Given the description of an element on the screen output the (x, y) to click on. 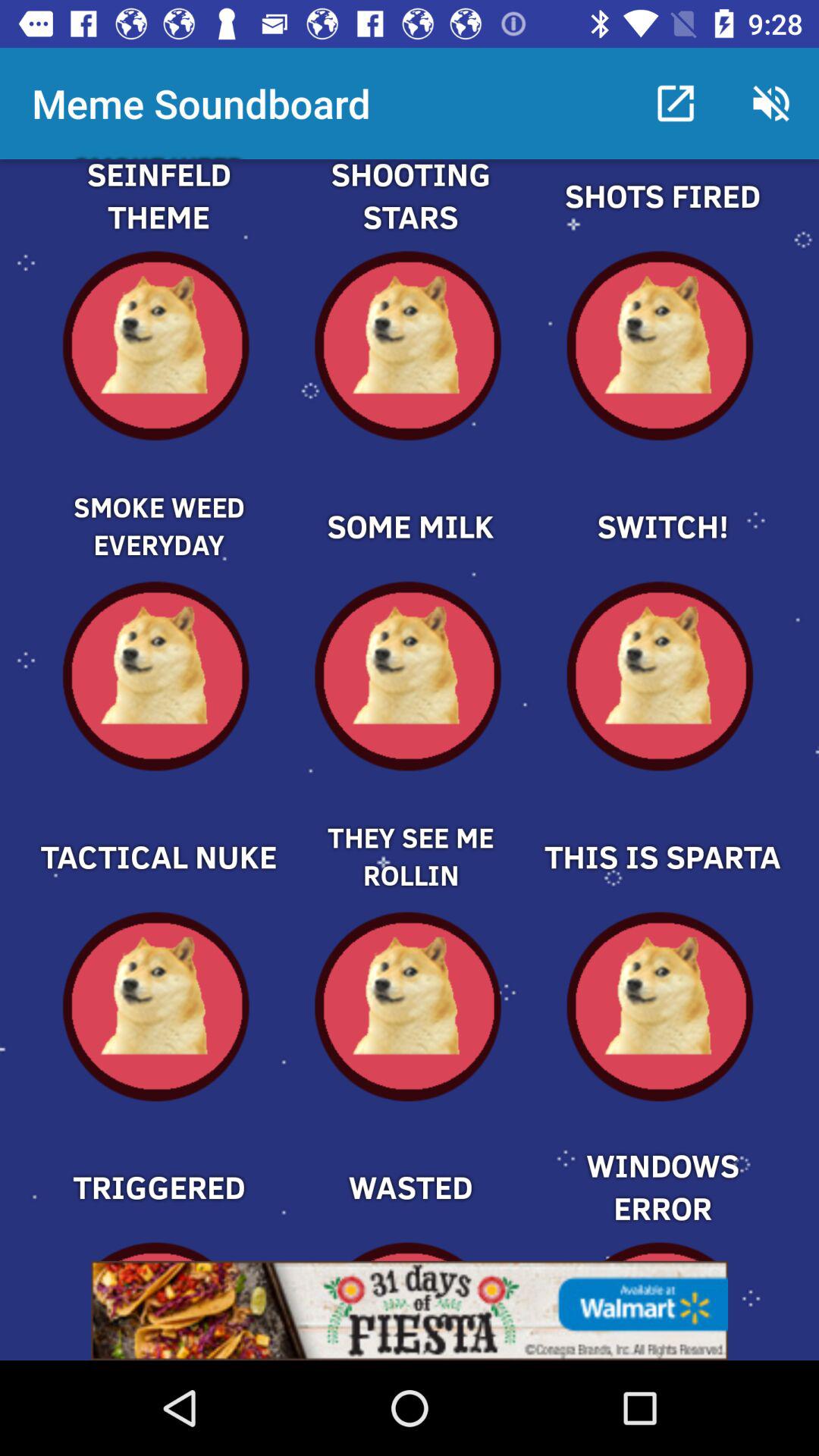
play selected sounds (409, 214)
